Given the description of an element on the screen output the (x, y) to click on. 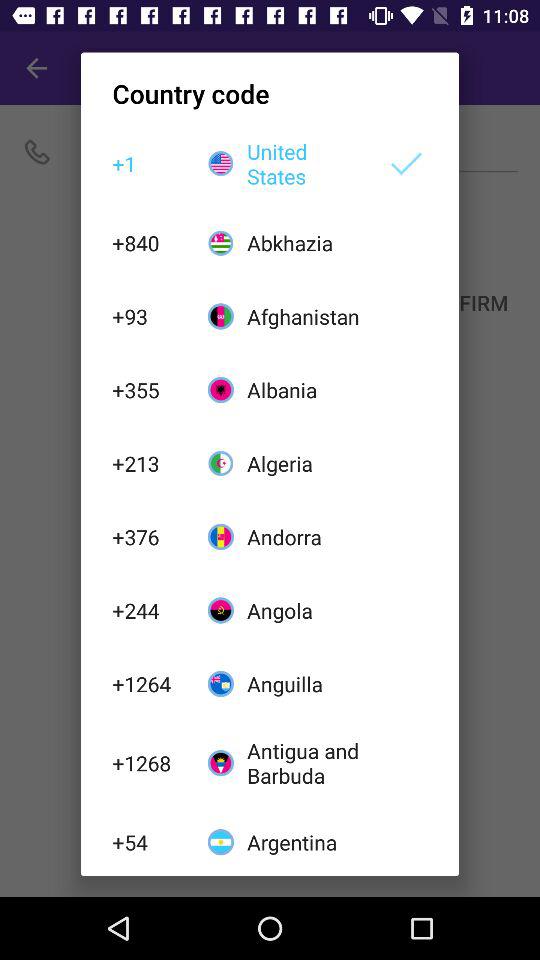
launch the icon above the +840 (149, 163)
